Given the description of an element on the screen output the (x, y) to click on. 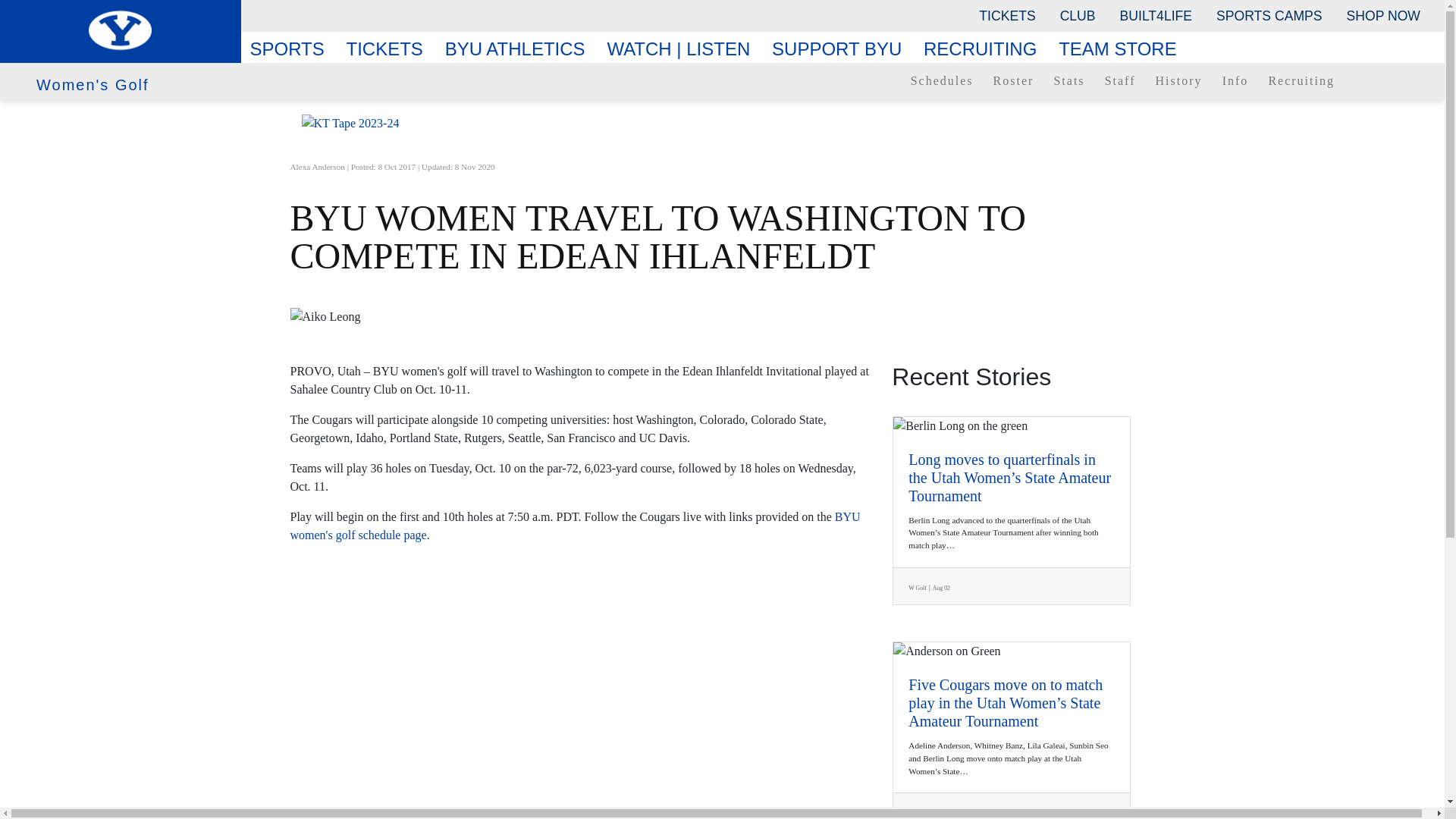
SHOP NOW (1383, 15)
SPORTS CAMPS (1268, 15)
CLUB (1078, 15)
TICKETS (1006, 15)
SPORTS (292, 49)
BUILT4LIFE (1156, 15)
Aiko Leong (721, 316)
